Given the description of an element on the screen output the (x, y) to click on. 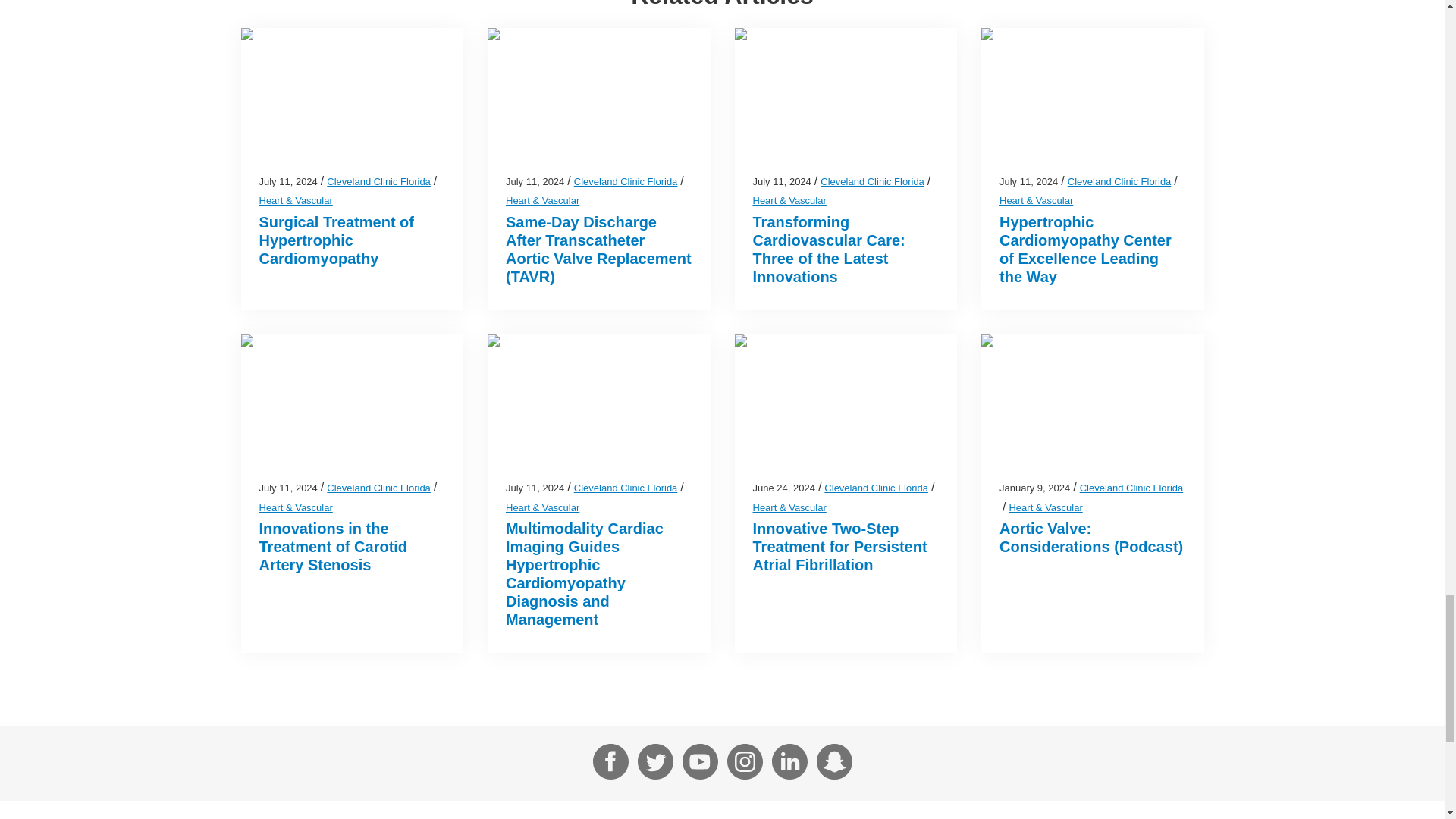
Cleveland Clinic Florida (378, 181)
Surgical Treatment of Hypertrophic Cardiomyopathy (336, 239)
Cleveland Clinic Florida (872, 181)
Cleveland Clinic Florida (625, 181)
